Given the description of an element on the screen output the (x, y) to click on. 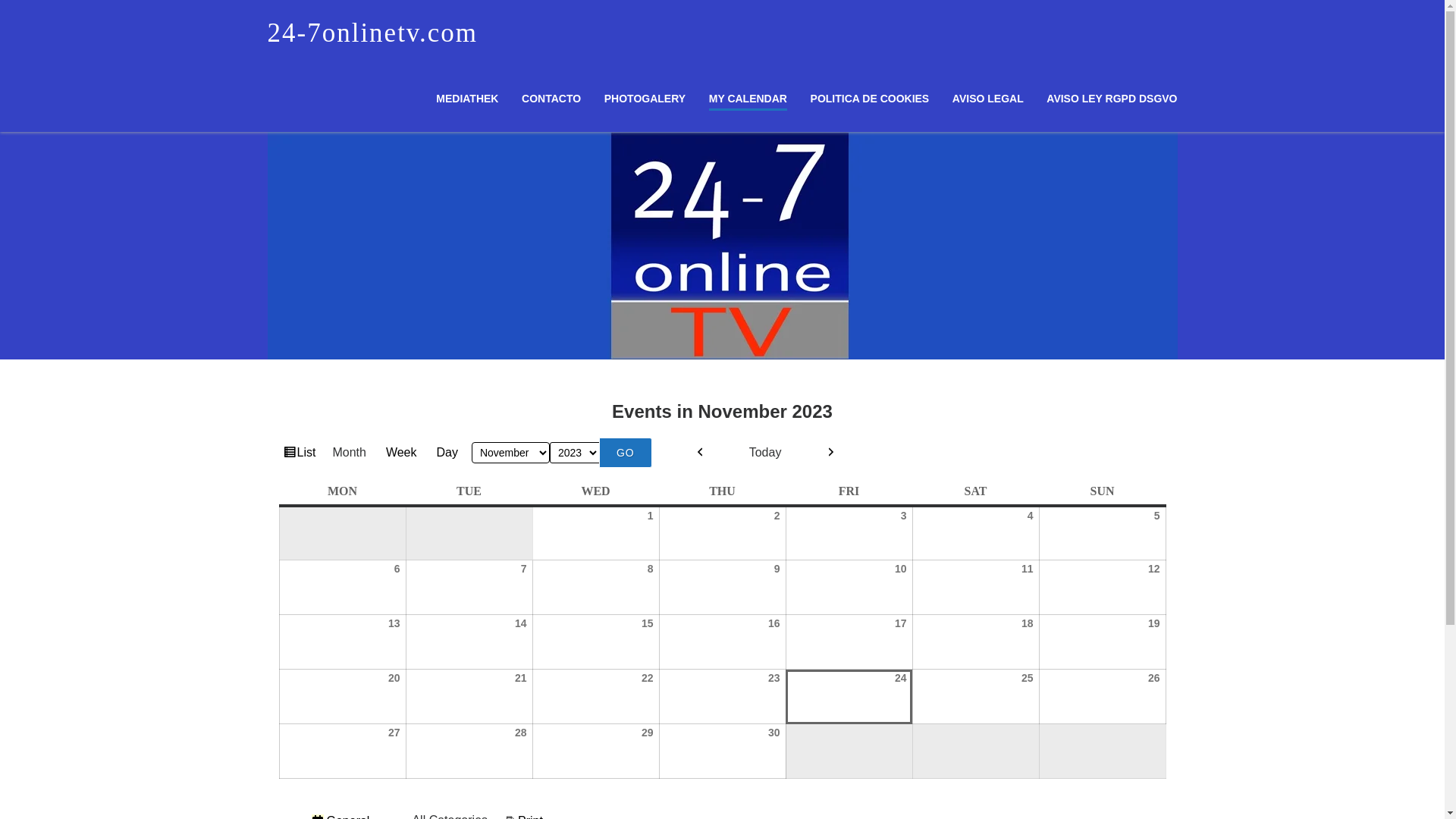
MEDIATHEK Element type: text (467, 98)
View as
List Element type: text (299, 452)
CONTACTO Element type: text (550, 98)
POLITICA DE COOKIES Element type: text (869, 98)
PHOTOGALERY Element type: text (644, 98)
24-7onlinetv.com Element type: text (371, 32)
Day Element type: text (446, 452)
Next Element type: text (830, 452)
MY CALENDAR Element type: text (748, 101)
AVISO LEY RGPD DSGVO Element type: text (1111, 98)
Week Element type: text (401, 452)
AVISO LEGAL Element type: text (987, 98)
Previous Element type: text (700, 452)
Go Element type: text (625, 452)
